Given the description of an element on the screen output the (x, y) to click on. 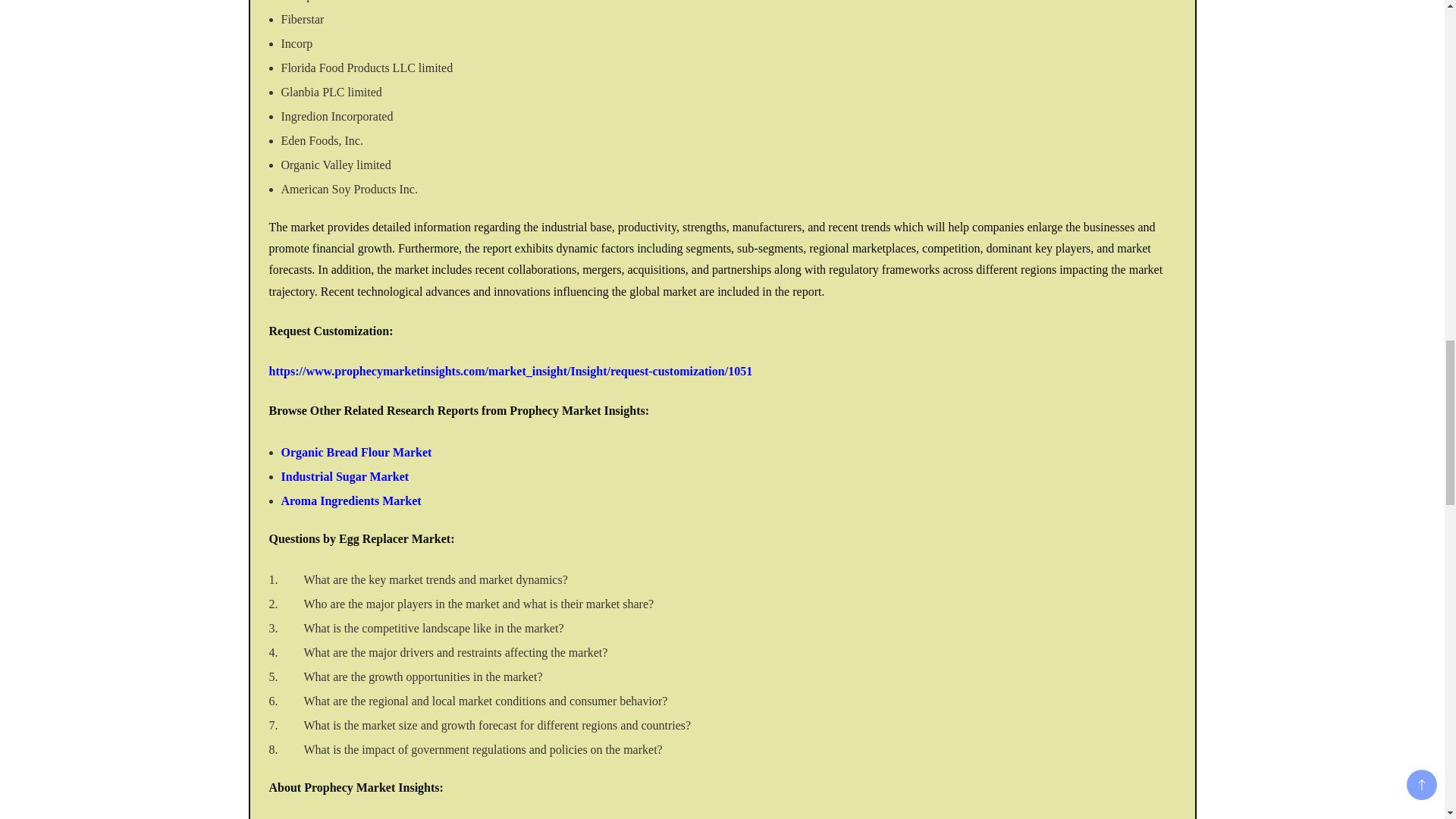
Aroma Ingredients Market (350, 500)
Industrial Sugar Market (345, 476)
Organic Bread Flour Market (355, 451)
